Given the description of an element on the screen output the (x, y) to click on. 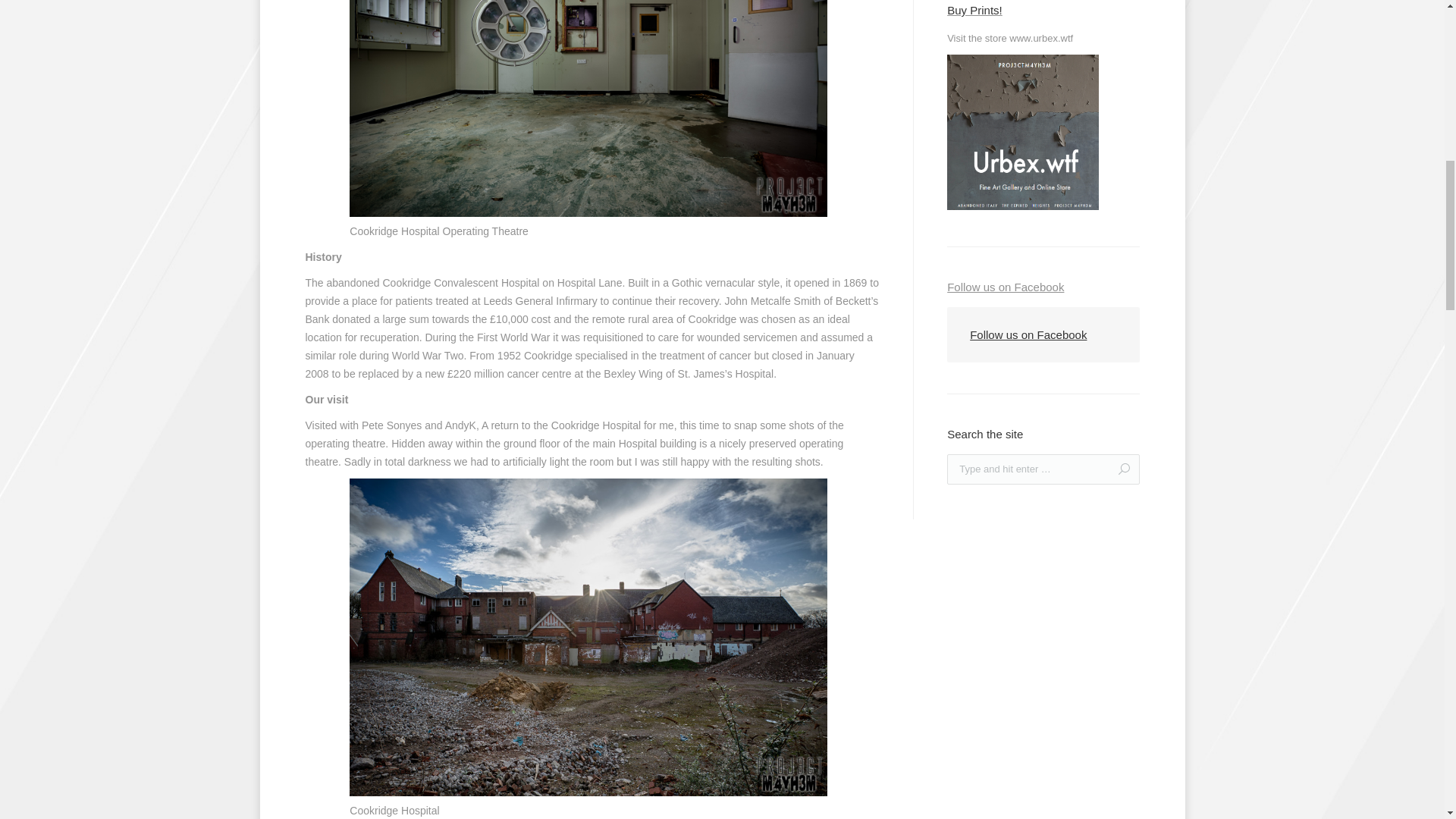
Go! (1117, 469)
Go! (1117, 469)
